Given the description of an element on the screen output the (x, y) to click on. 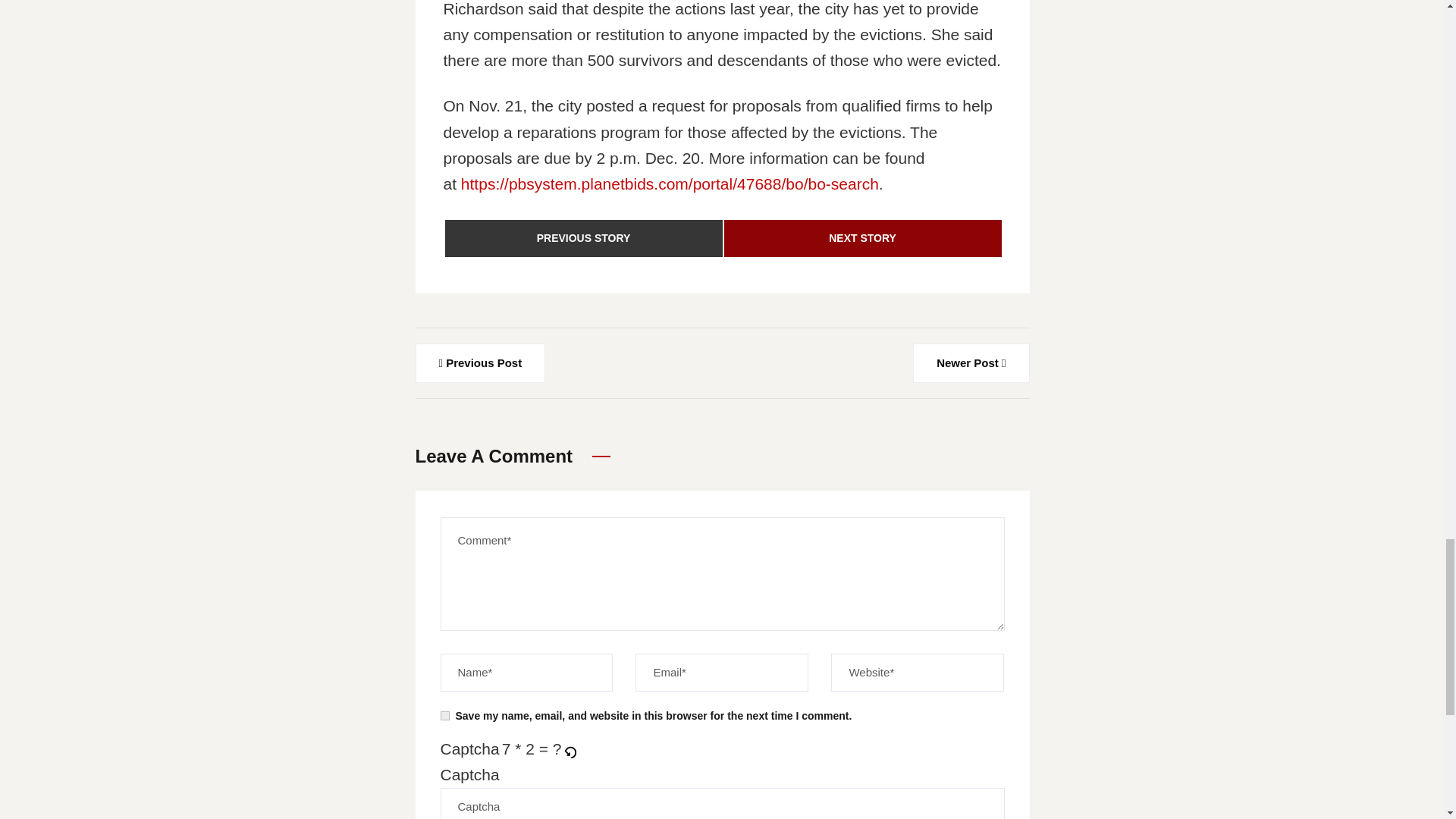
PREVIOUS STORY (583, 238)
Previous Post (480, 363)
NEXT STORY (862, 237)
NEXT STORY (862, 238)
PREVIOUS STORY (582, 237)
Newer Post (970, 363)
